Given the description of an element on the screen output the (x, y) to click on. 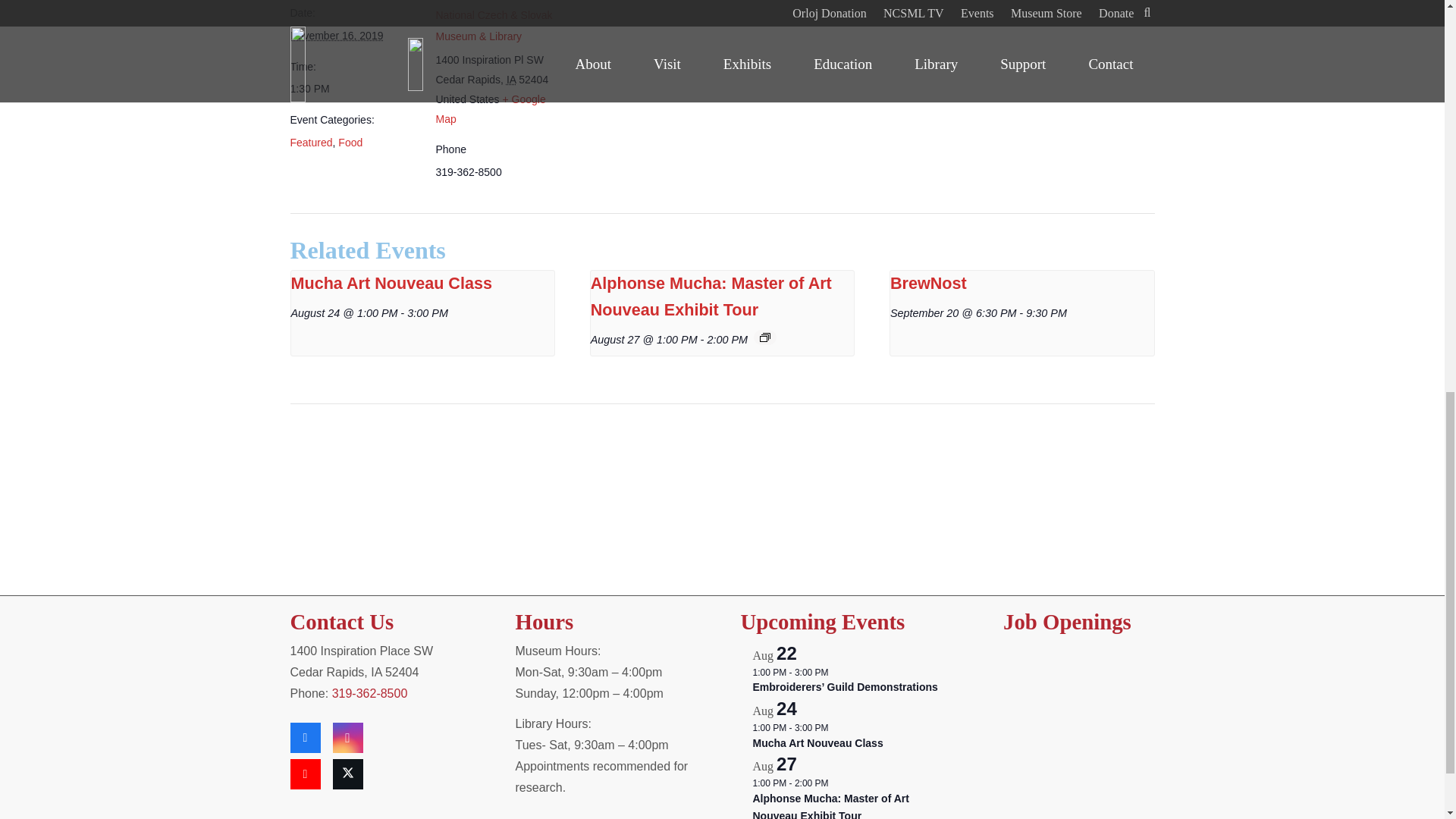
Event Series (765, 337)
Instagram (346, 737)
Facebook (304, 737)
2019-11-16 (352, 88)
YouTube (304, 774)
2019-11-16 (335, 35)
Twitter (346, 774)
Click to view a Google Map (489, 109)
Event Series (836, 672)
